Given the description of an element on the screen output the (x, y) to click on. 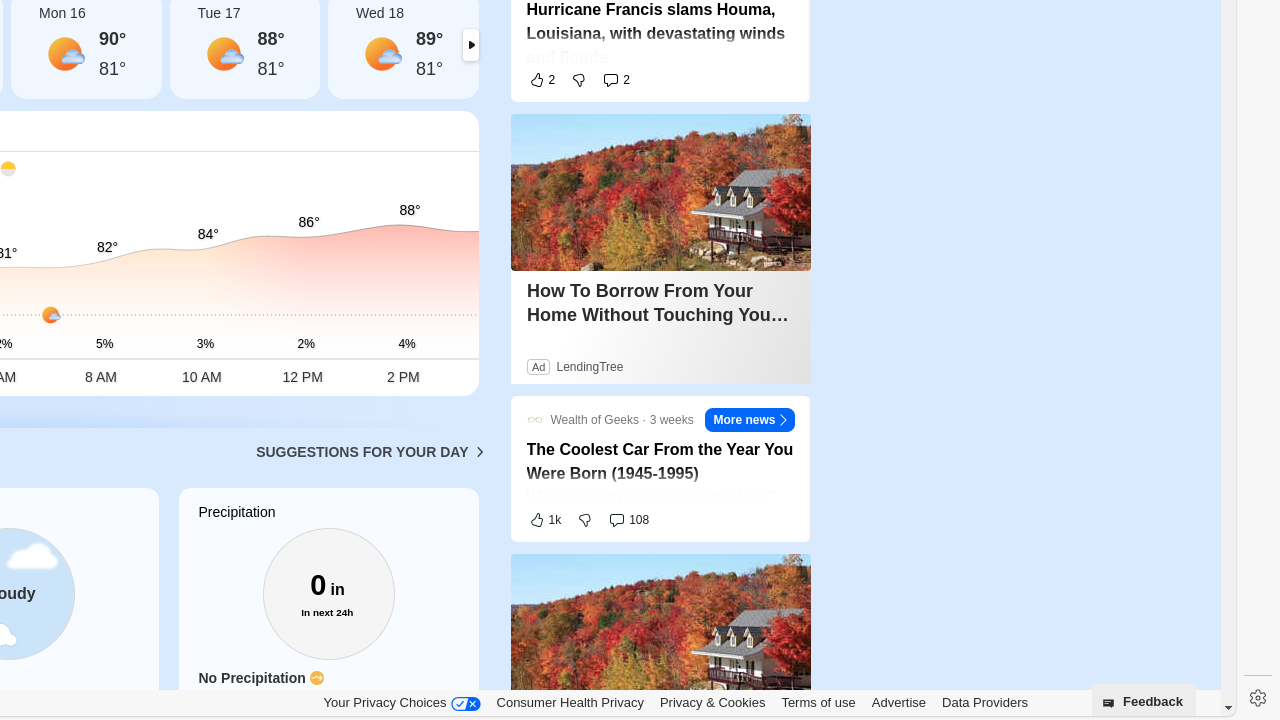
See 108 comments Element type: link (629, 520)
Privacy & Cookies Element type: link (712, 702)
Dislike Element type: push-button (585, 520)
Terms of use Element type: link (818, 702)
Hide Story Element type: push-button (790, 416)
